Given the description of an element on the screen output the (x, y) to click on. 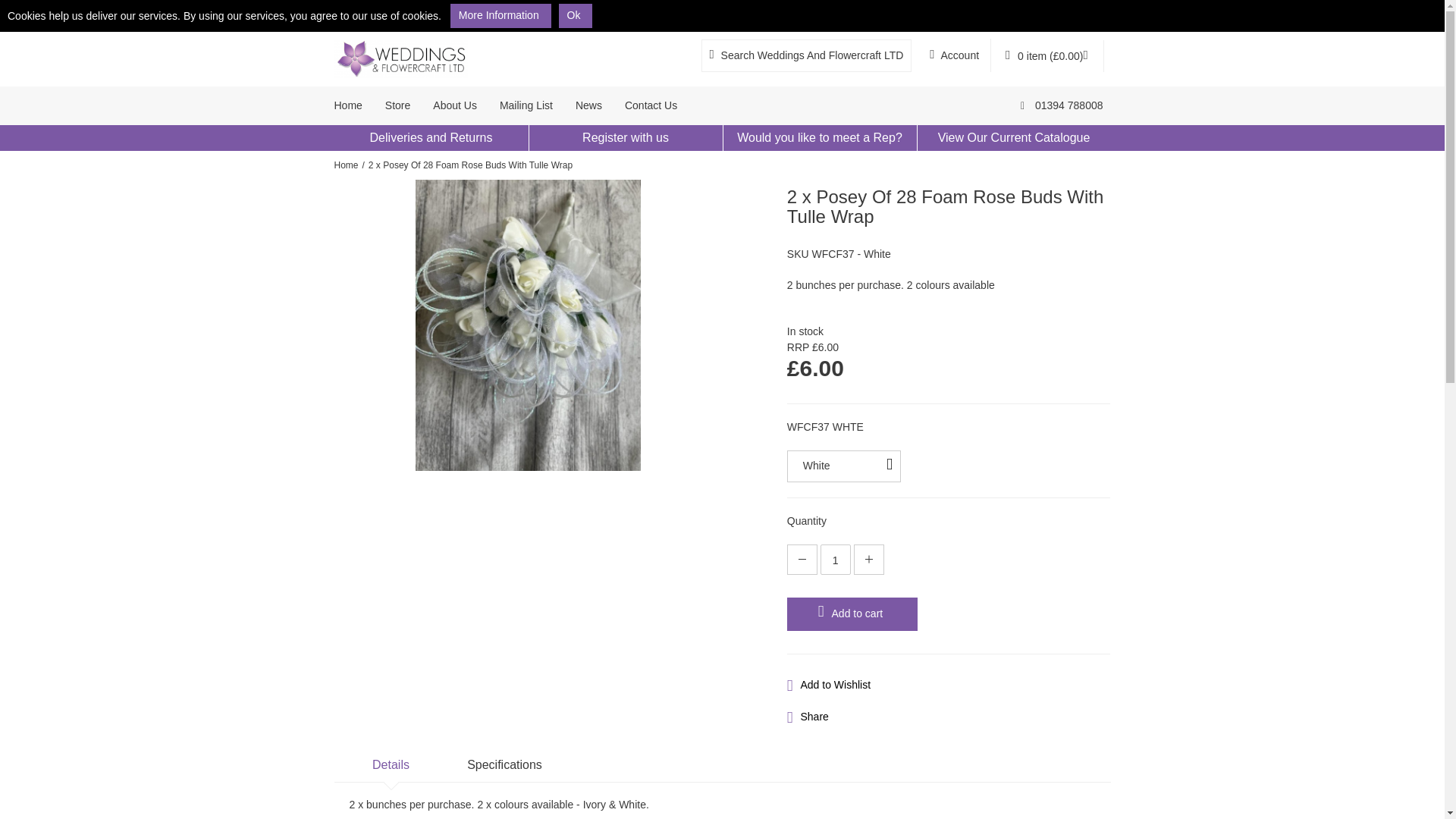
Contact Us (650, 105)
Search Weddings And Flowercraft LTD (806, 55)
Would you like to meet a Rep? (819, 137)
View Our Current Catalogue (1013, 137)
1 (835, 559)
About Us (454, 105)
01394 788008 (1061, 105)
Home (352, 105)
Mailing List (525, 105)
Home (345, 164)
News (588, 105)
Register with us (625, 137)
My Account (954, 55)
add to cart (852, 613)
Store (398, 105)
